Given the description of an element on the screen output the (x, y) to click on. 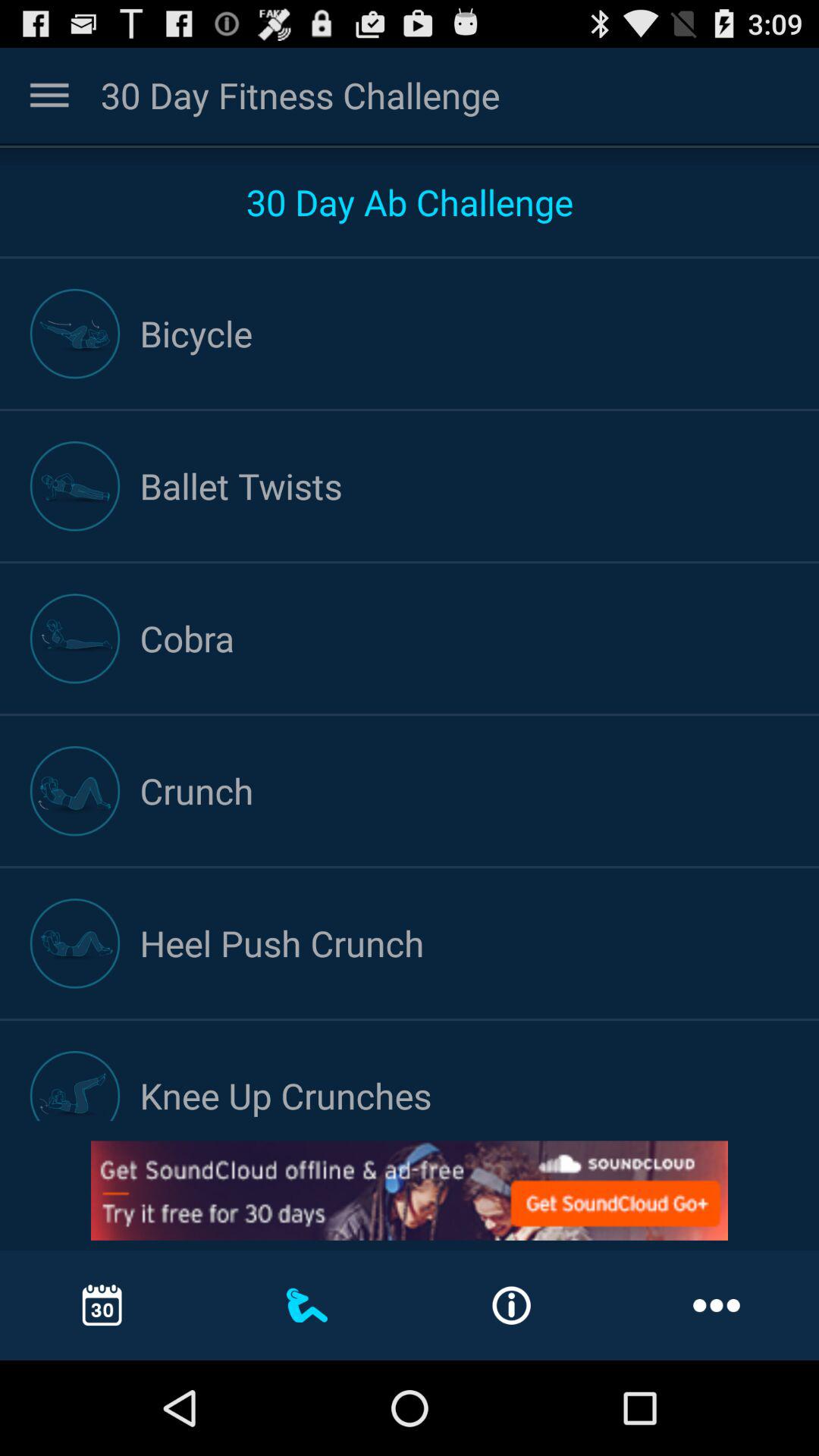
select the icon which is left to heel push crunch (74, 943)
select the icon which is left side to the text knee up crunches (74, 1086)
click the symbol which is on left hand side of the text cobra (74, 639)
select the icon which is before crunch (74, 790)
